Given the description of an element on the screen output the (x, y) to click on. 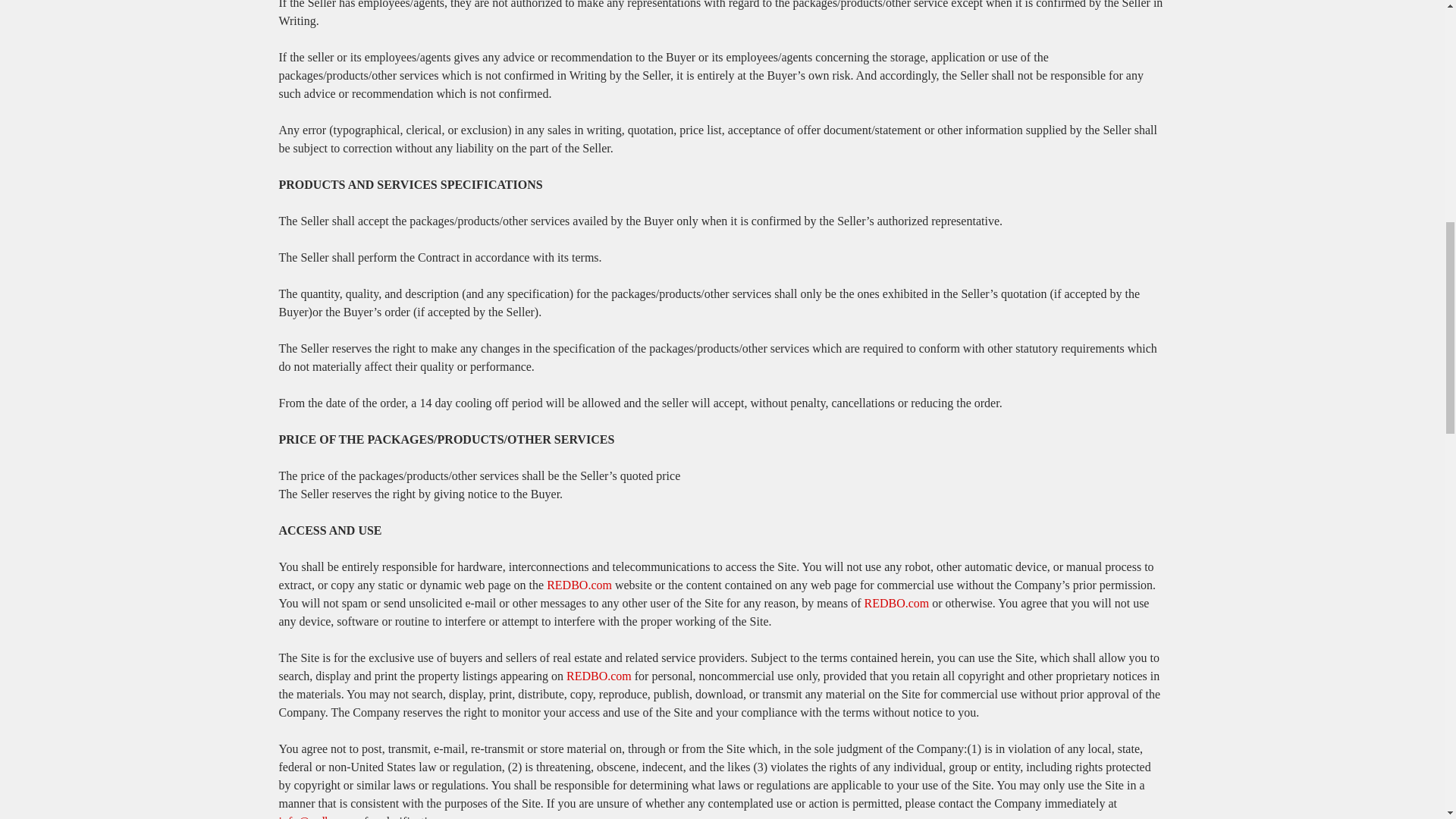
REDBO.com (579, 584)
REDBO.com (897, 603)
REDBO.com (598, 675)
